Given the description of an element on the screen output the (x, y) to click on. 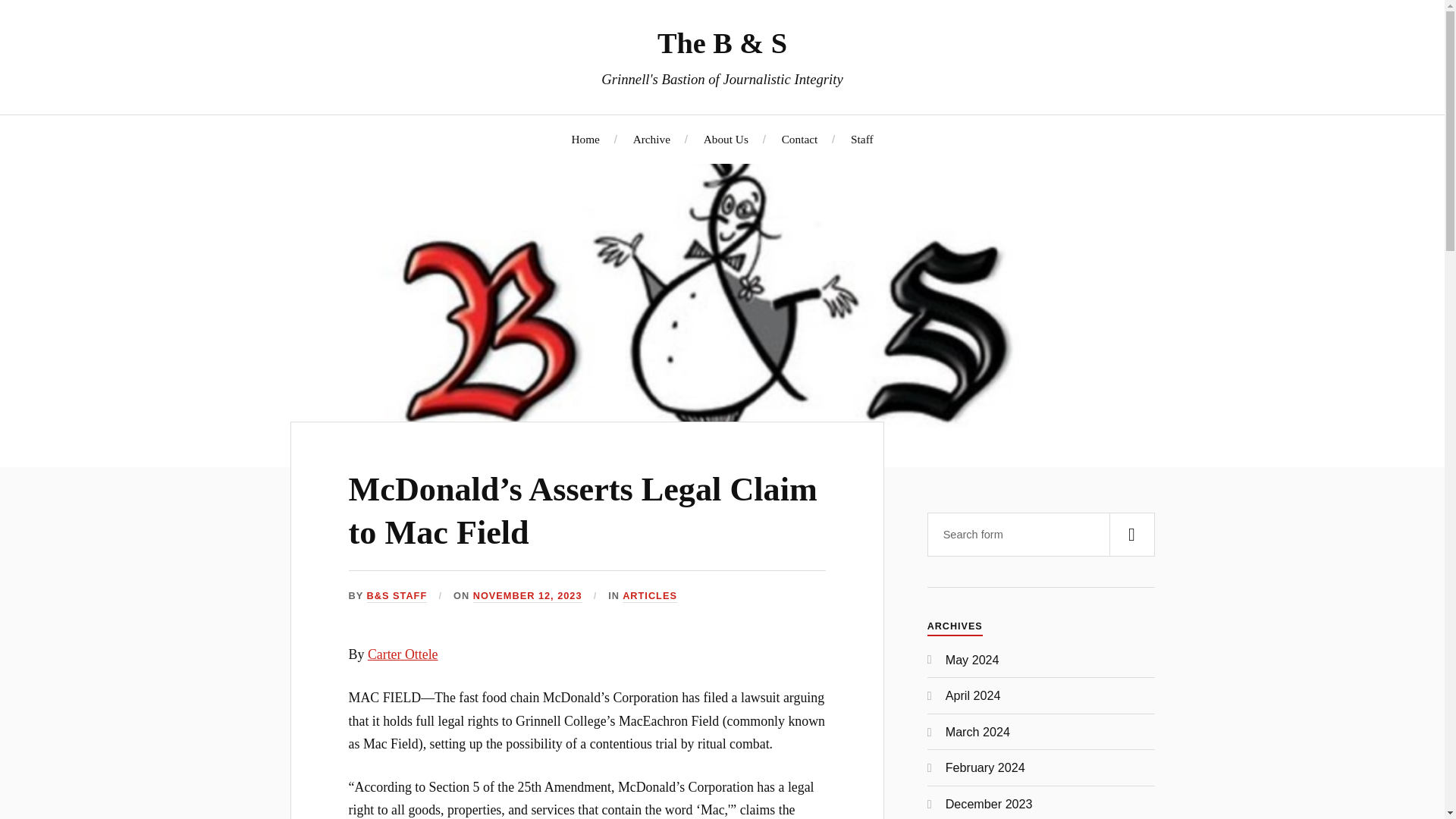
March 2024 (977, 731)
December 2023 (988, 803)
Archive (651, 138)
May 2024 (971, 659)
Staff (861, 138)
NOVEMBER 12, 2023 (527, 595)
ARTICLES (650, 595)
Carter Ottele (403, 654)
Contact (799, 138)
April 2024 (972, 694)
About Us (725, 138)
February 2024 (984, 766)
Home (584, 138)
